Given the description of an element on the screen output the (x, y) to click on. 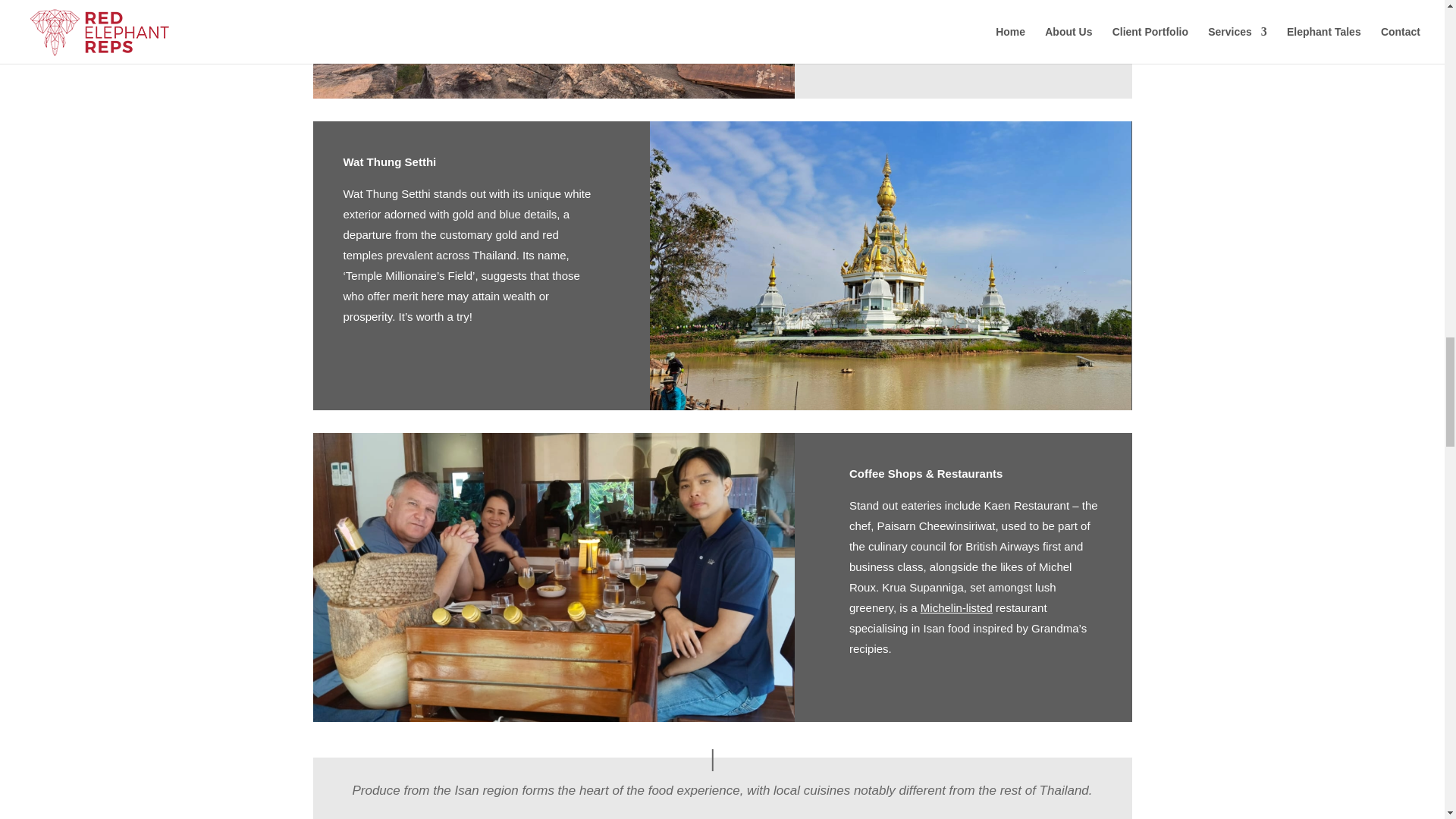
Nam Phong National Park, Khon Kaen (553, 49)
Michelin-listed (956, 607)
